Given the description of an element on the screen output the (x, y) to click on. 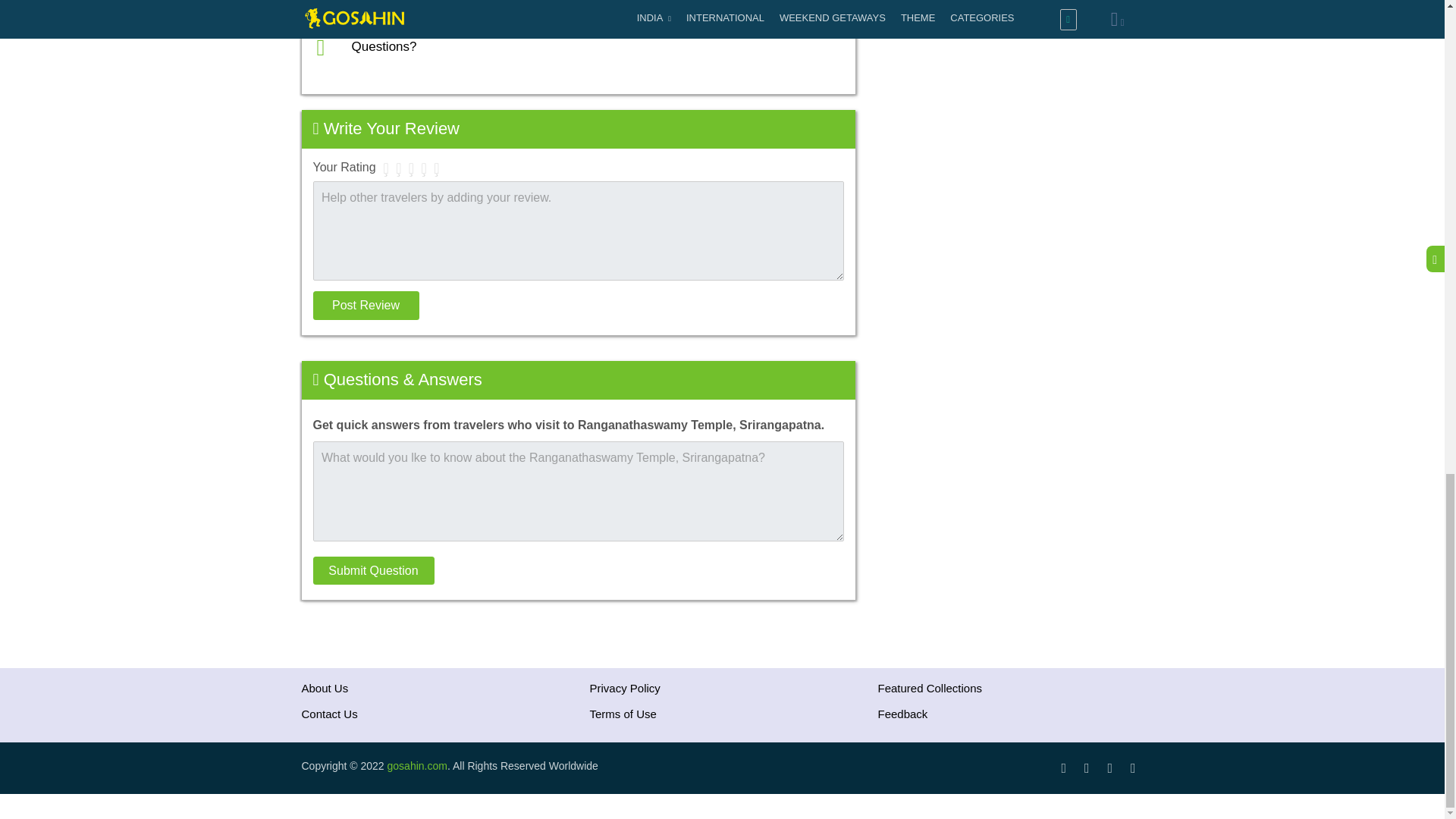
Advertisement (1011, 117)
Post Review (366, 305)
Would love your thoughts, please write a review. (489, 11)
3 stars (410, 168)
Submit Question (373, 570)
1 star (386, 168)
2 stars (397, 168)
Questions? (384, 46)
5 stars (435, 168)
4 stars (423, 168)
